Given the description of an element on the screen output the (x, y) to click on. 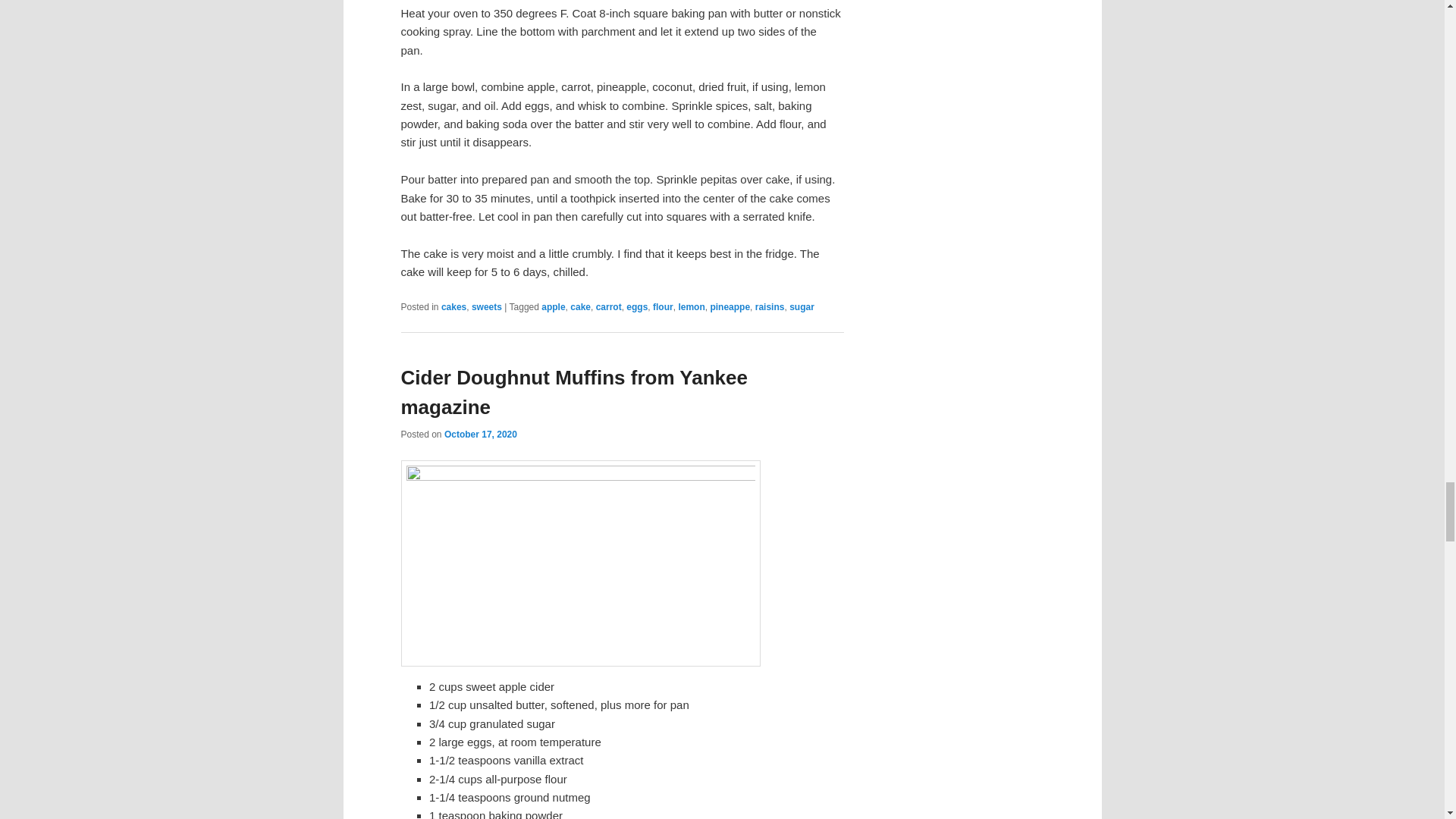
4:23 pm (480, 434)
